Given the description of an element on the screen output the (x, y) to click on. 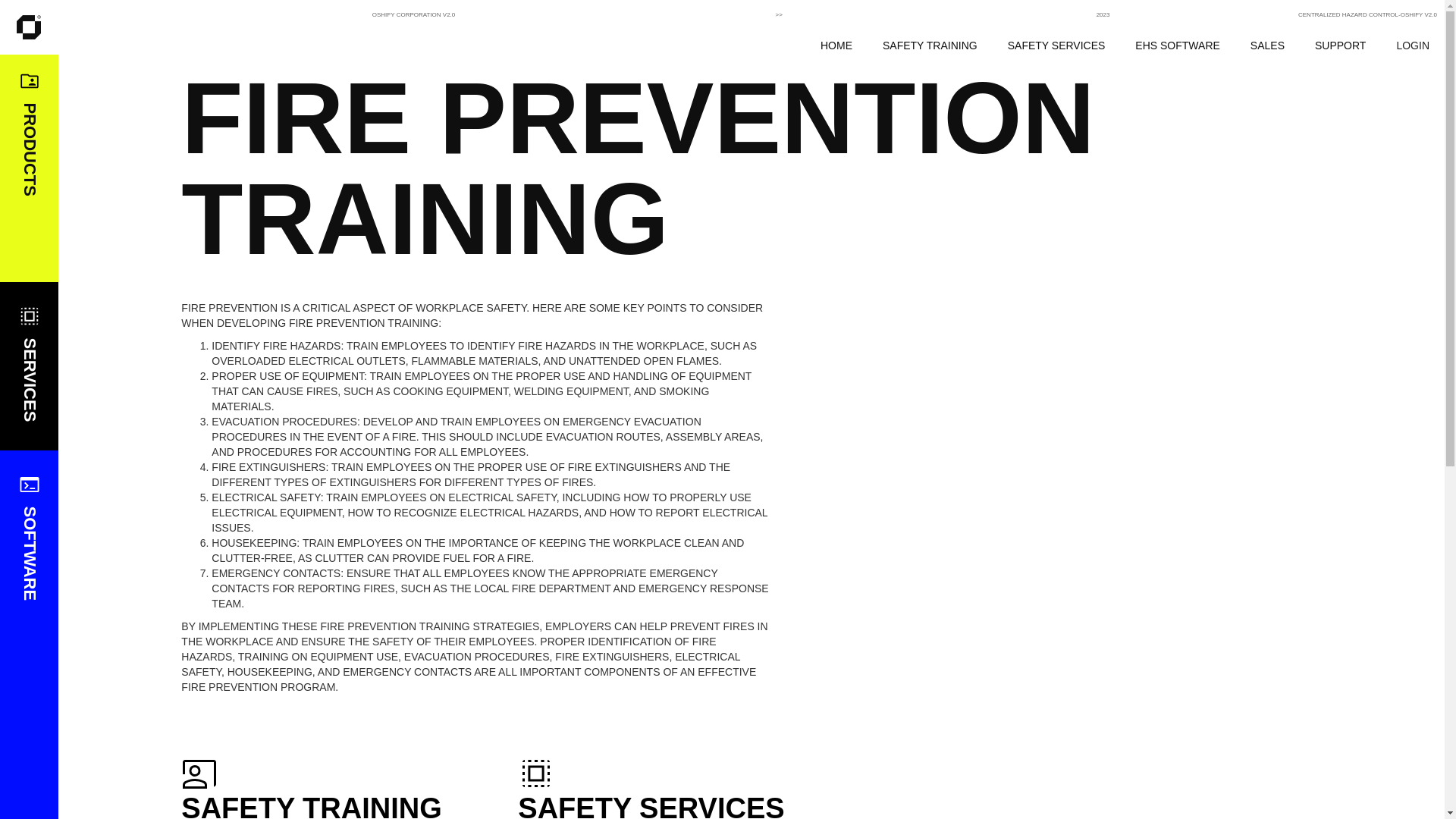
SUPPORT (1340, 44)
HOME (836, 44)
SAFETY SERVICES (1056, 44)
SAFETY TRAINING (929, 44)
SALES (1267, 44)
EHS SOFTWARE (1176, 44)
